Given the description of an element on the screen output the (x, y) to click on. 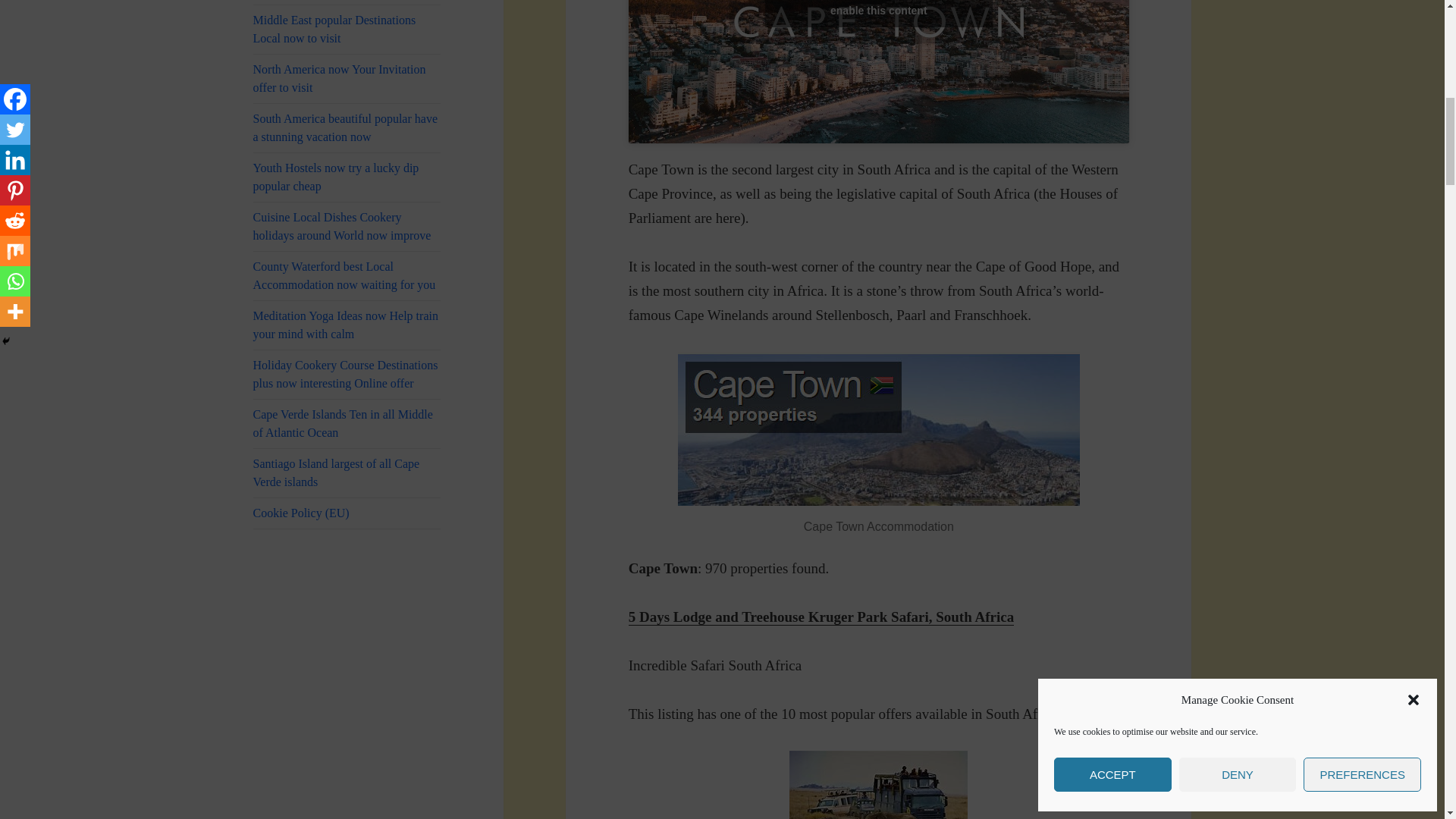
Middle East popular Destinations Local now to visit (347, 29)
Meditation Yoga Ideas now Help train your mind with calm (347, 325)
Santiago Island largest of all Cape Verde islands (347, 472)
Youth Hostels now try a lucky dip popular cheap (347, 177)
Cape Verde Islands Ten in all Middle of Atlantic Ocean (347, 423)
South America beautiful popular have a stunning vacation now (347, 128)
Larger Group Accommodation now find a venue (347, 2)
North America now Your Invitation offer to visit (347, 78)
